Given the description of an element on the screen output the (x, y) to click on. 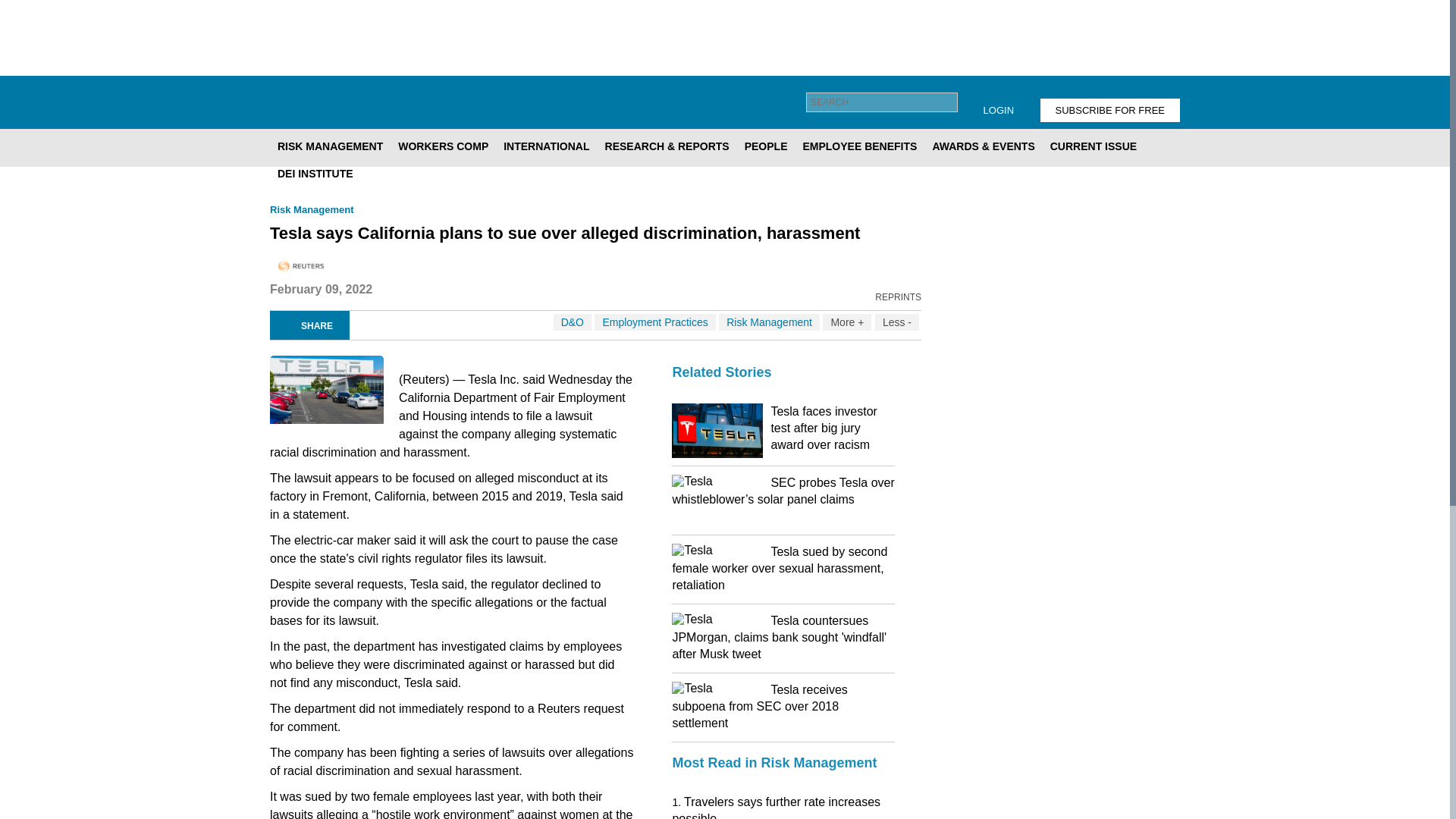
SUBSCRIBE FOR FREE (1110, 110)
INTERNATIONAL (546, 145)
PEOPLE (765, 145)
RISK MANAGEMENT (329, 145)
WORKERS COMP (443, 145)
LOGIN (998, 110)
Help (990, 101)
